Given the description of an element on the screen output the (x, y) to click on. 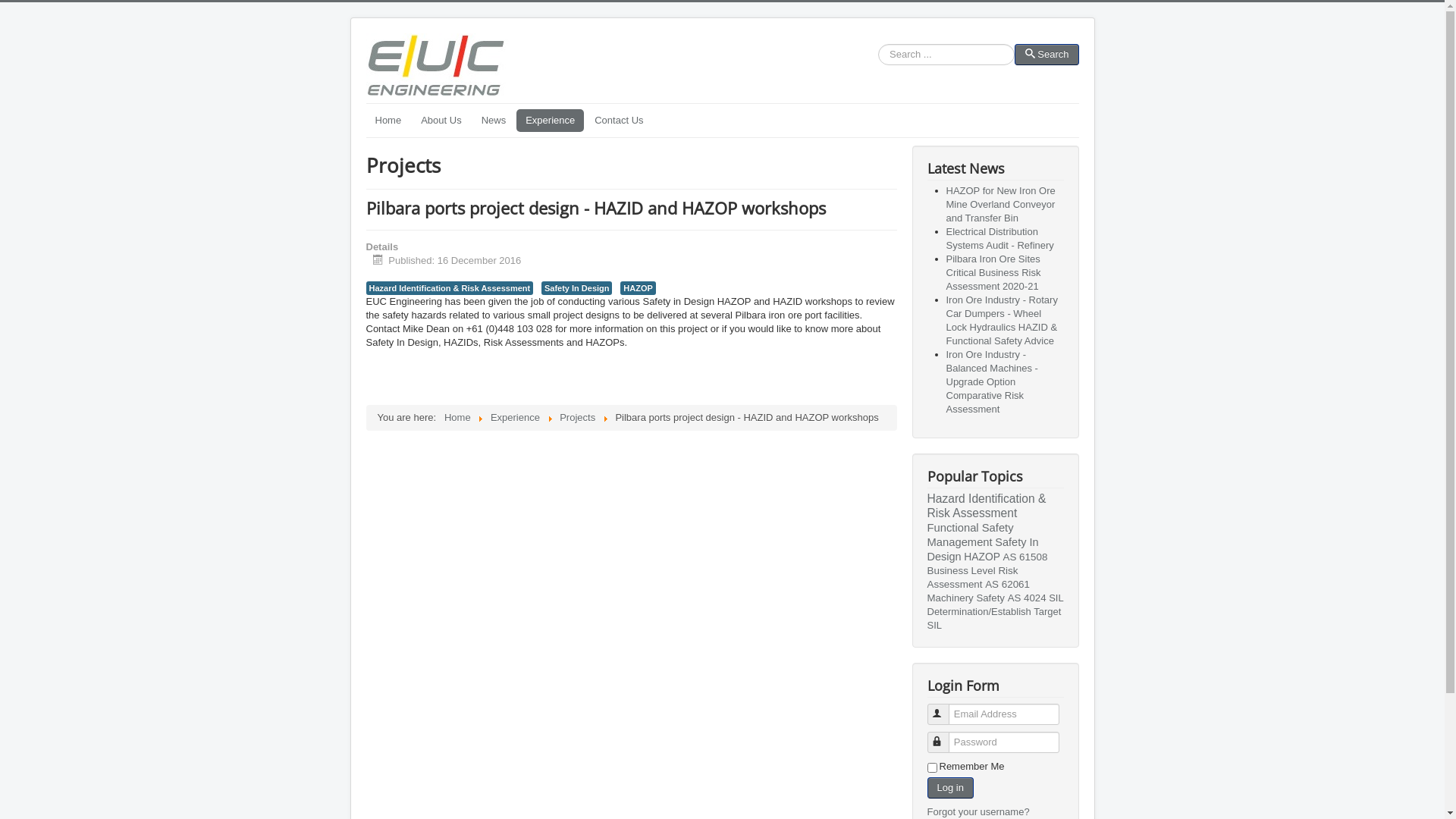
Experience Element type: text (549, 120)
Safety In Design Element type: text (576, 287)
Home Element type: text (387, 120)
Home Element type: text (457, 417)
Machinery Safety Element type: text (965, 597)
Search Element type: text (1046, 54)
Contact Us Element type: text (618, 120)
Business Level Risk Assessment Element type: text (971, 576)
Forgot your username? Element type: text (977, 811)
Electrical Distribution Systems Audit - Refinery Element type: text (1000, 238)
Hazard Identification & Risk Assessment Element type: text (449, 287)
SIL Determination/Establish Target SIL Element type: text (994, 611)
Experience Element type: text (514, 417)
HAZOP Element type: text (637, 287)
Projects Element type: text (577, 417)
Functional Safety Management Element type: text (969, 534)
Hazard Identification & Risk Assessment Element type: text (985, 505)
Safety In Design Element type: text (982, 549)
AS 62061 Element type: text (1007, 583)
Log in Element type: text (949, 787)
News Element type: text (493, 120)
AS 61508 Element type: text (1024, 556)
About Us Element type: text (440, 120)
AS 4024 Element type: text (1026, 597)
HAZOP Element type: text (981, 556)
